Given the description of an element on the screen output the (x, y) to click on. 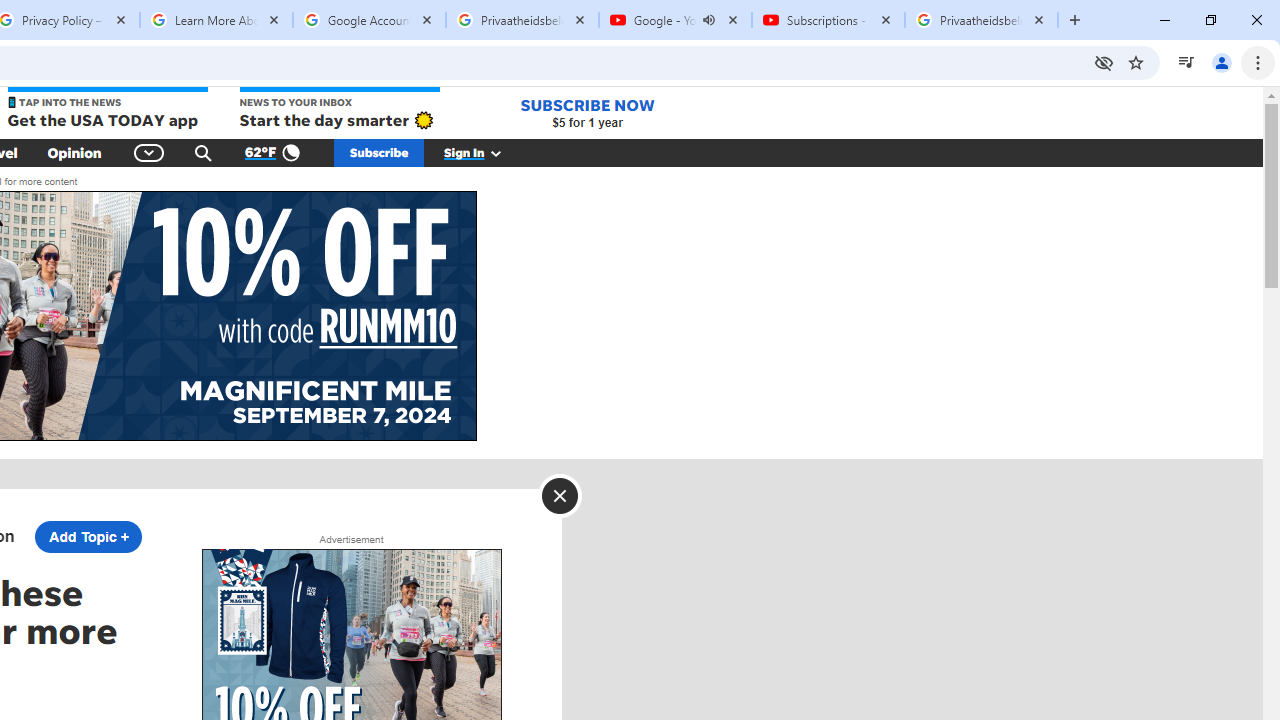
Bookmark this tab (1135, 62)
Opinion (74, 152)
SUBSCRIBE NOW $5 for 1 year (587, 112)
Sign In (483, 152)
You (1221, 62)
Search (203, 152)
Global Navigation (149, 152)
Google - YouTube - Audio playing (675, 20)
Close (1039, 19)
New Tab (1075, 20)
Subscriptions - YouTube (827, 20)
Third-party cookies blocked (1103, 62)
